Given the description of an element on the screen output the (x, y) to click on. 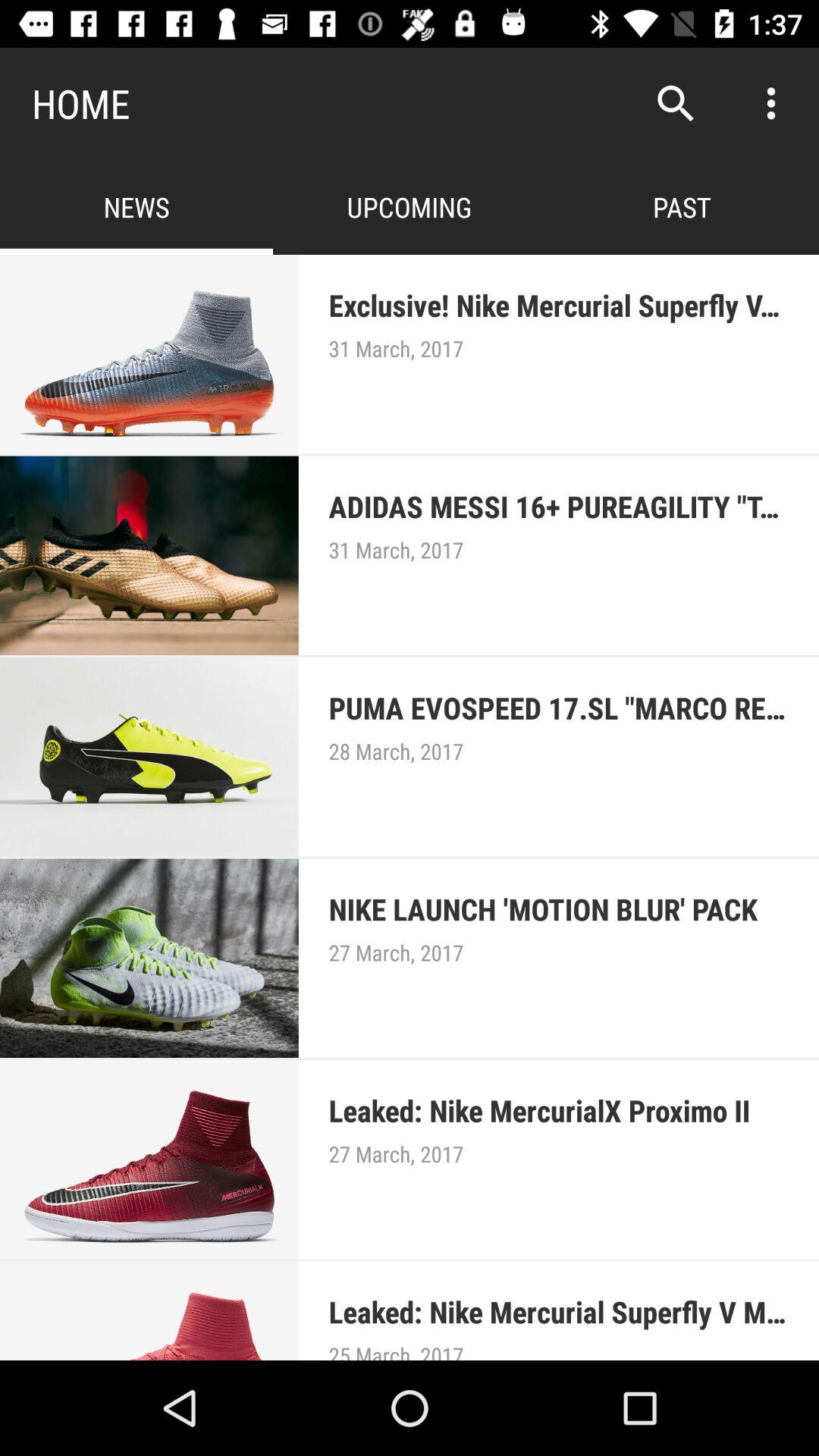
turn off the icon above past (675, 103)
